Given the description of an element on the screen output the (x, y) to click on. 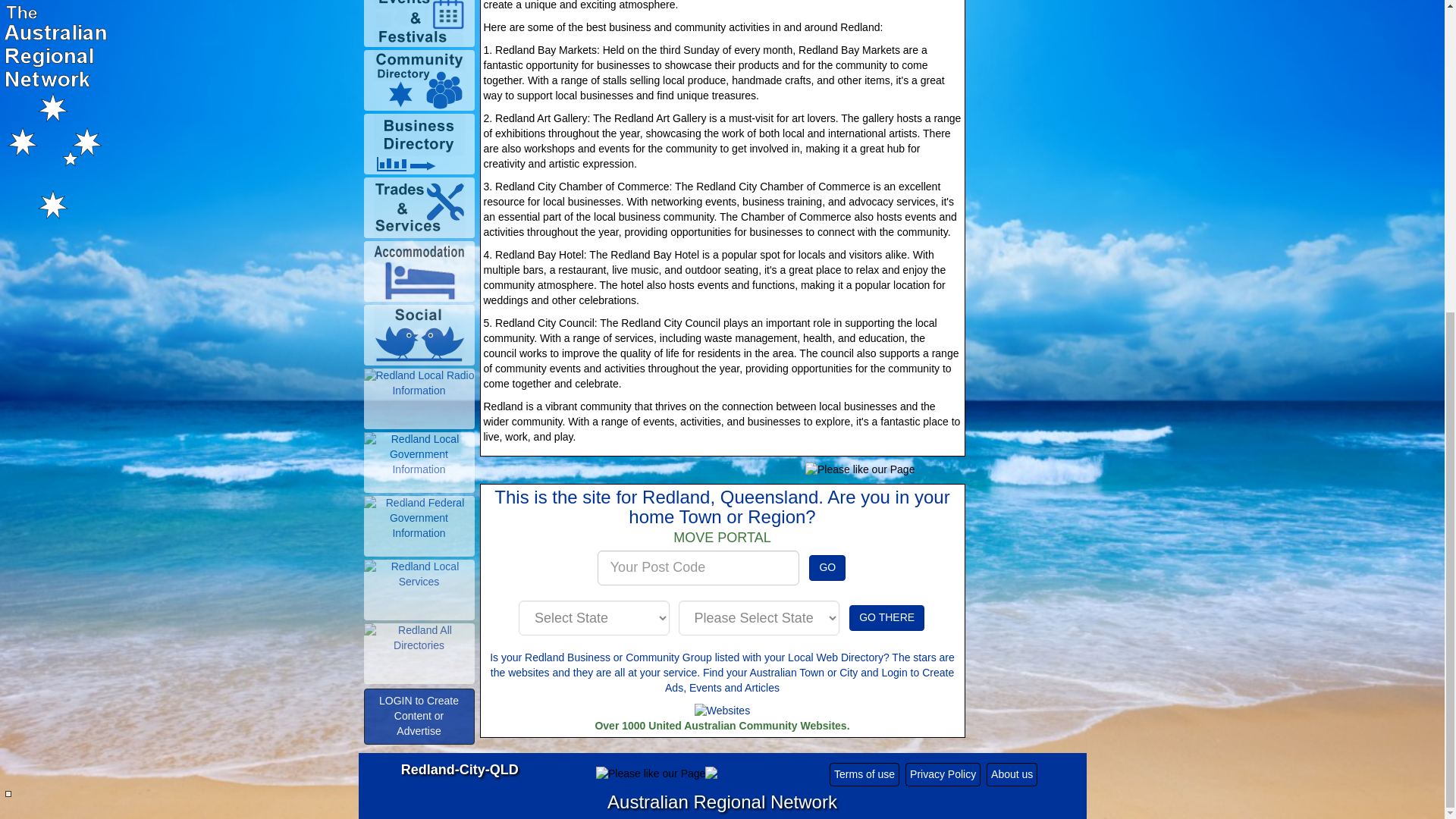
Australian Regional Network Websites (721, 711)
GO THERE (886, 617)
Please like our Page (859, 469)
Please like our Page (649, 774)
